Given the description of an element on the screen output the (x, y) to click on. 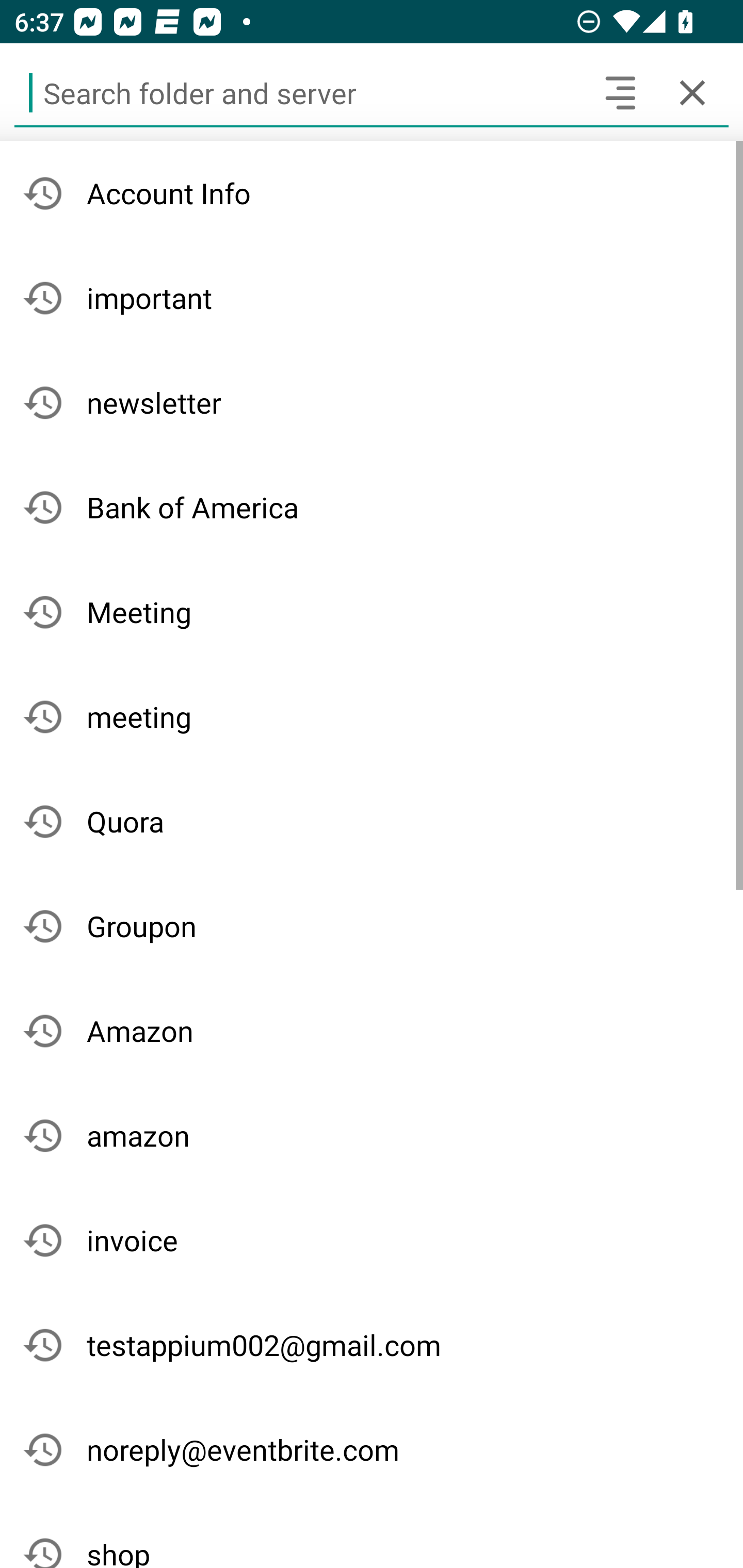
   Search folder and server (298, 92)
Search headers and text (619, 92)
Cancel (692, 92)
